Given the description of an element on the screen output the (x, y) to click on. 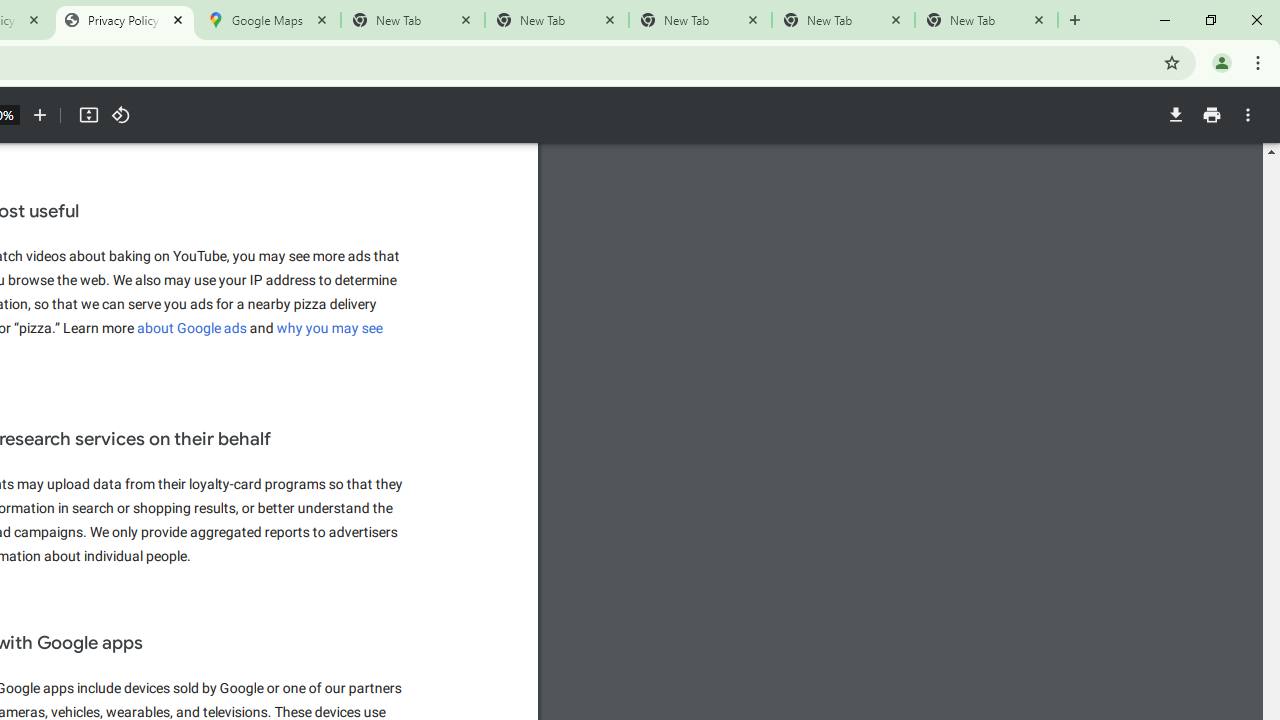
Zoom in (39, 115)
More actions (1247, 115)
Print (1211, 115)
about Google ads (192, 327)
Fit to page (87, 115)
Download (1175, 115)
why you may see (330, 327)
Google Maps (268, 20)
